Given the description of an element on the screen output the (x, y) to click on. 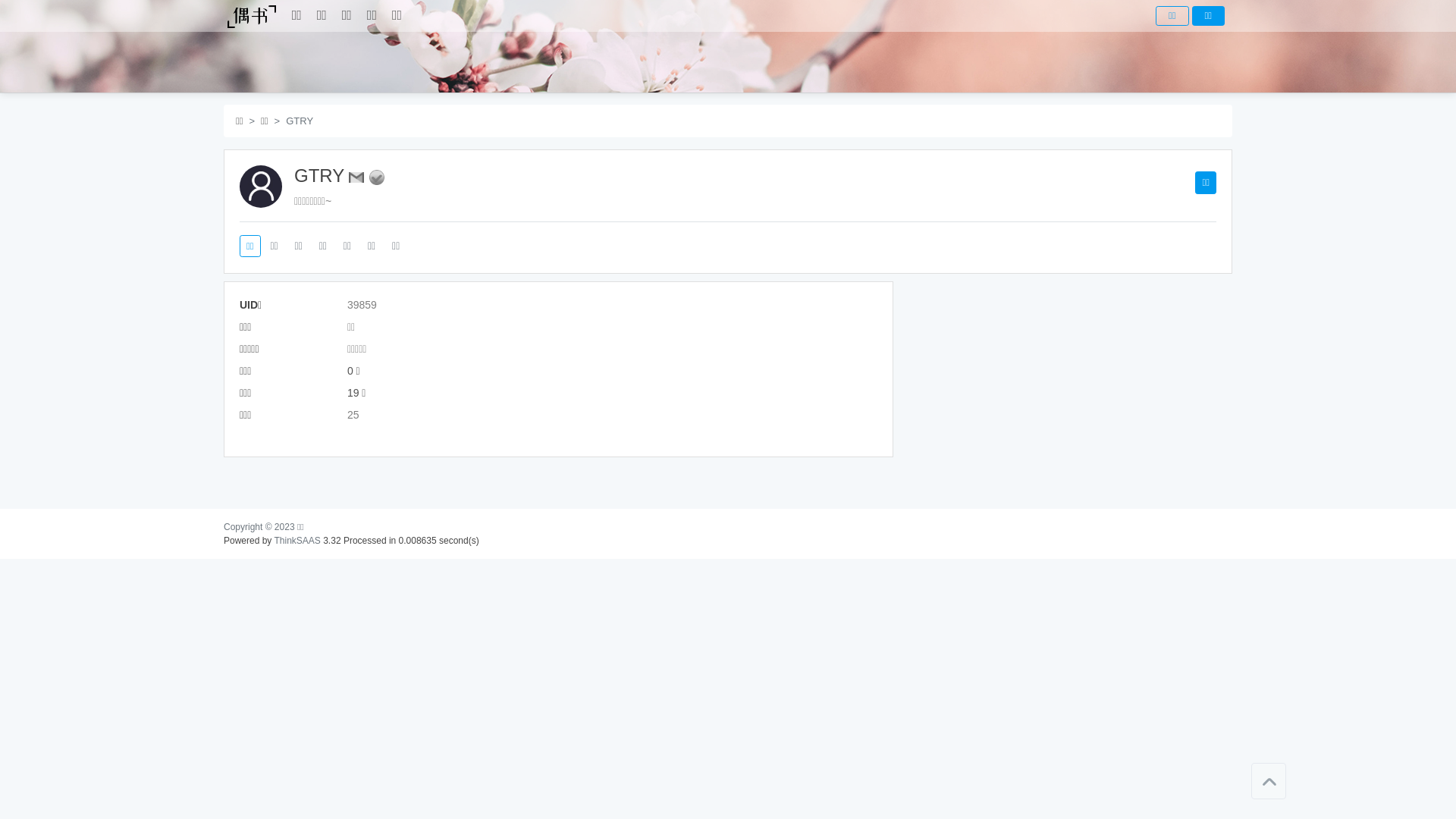
ThinkSAAS Element type: text (297, 540)
Advertisement Element type: hover (1066, 387)
